Given the description of an element on the screen output the (x, y) to click on. 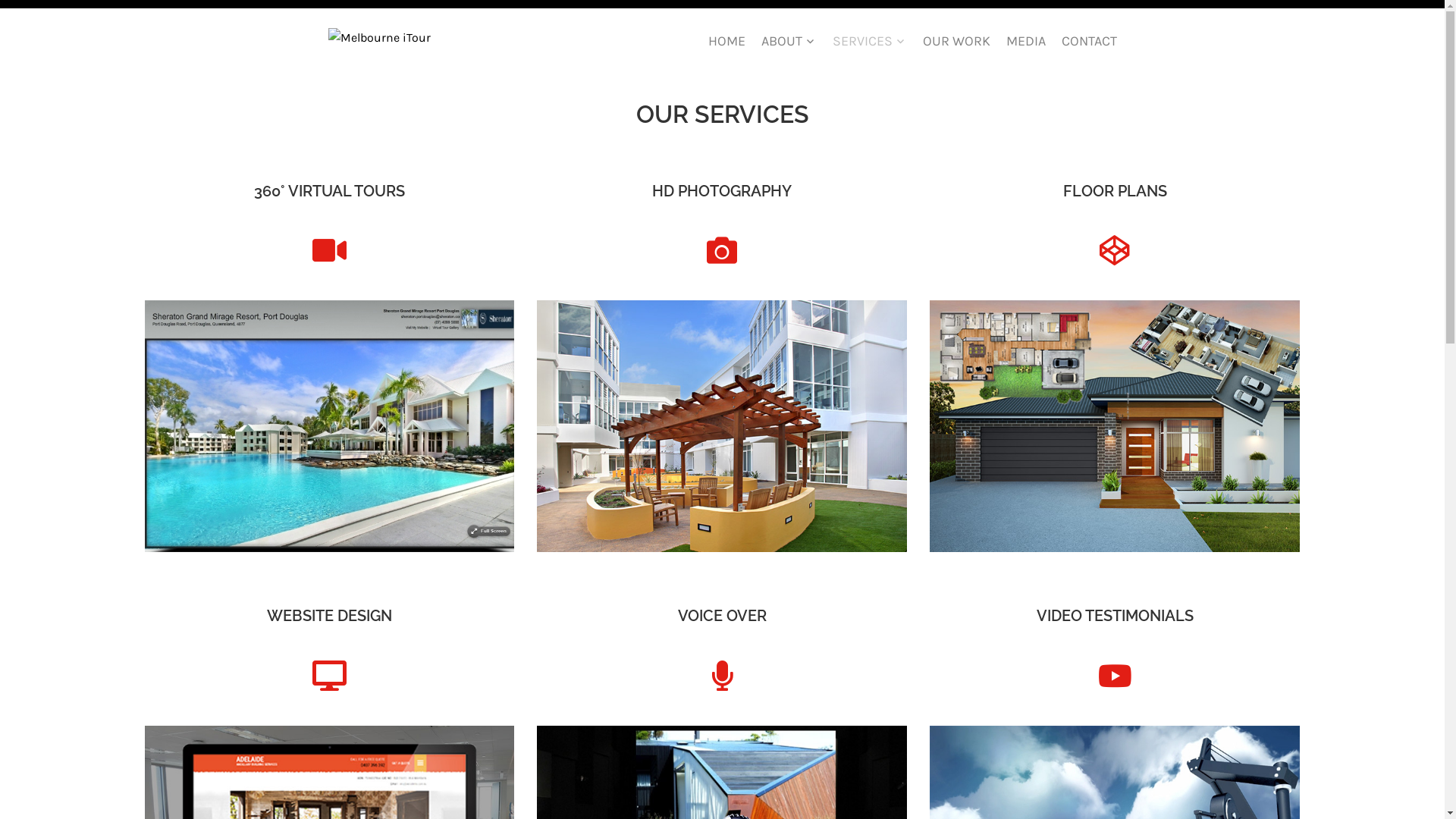
OUR WORK Element type: text (950, 41)
MEDIA Element type: text (1019, 41)
MELBOURNE ITOUR Element type: text (583, 43)
CONTACT Element type: text (1082, 41)
virtual-tours-melbourne Element type: hover (329, 426)
ABOUT Element type: text (781, 41)
FLOOR PLANS Element type: text (1115, 191)
HOME Element type: text (719, 41)
VOICE OVER Element type: text (721, 615)
VIDEO TESTIMONIALS Element type: text (1114, 615)
photography-services-melbourne Element type: hover (721, 425)
HD PHOTOGRAPHY Element type: text (721, 191)
WEBSITE DESIGN Element type: text (329, 615)
services-melbourne-itour-floor-plans Element type: hover (1114, 425)
SERVICES Element type: text (862, 41)
